Given the description of an element on the screen output the (x, y) to click on. 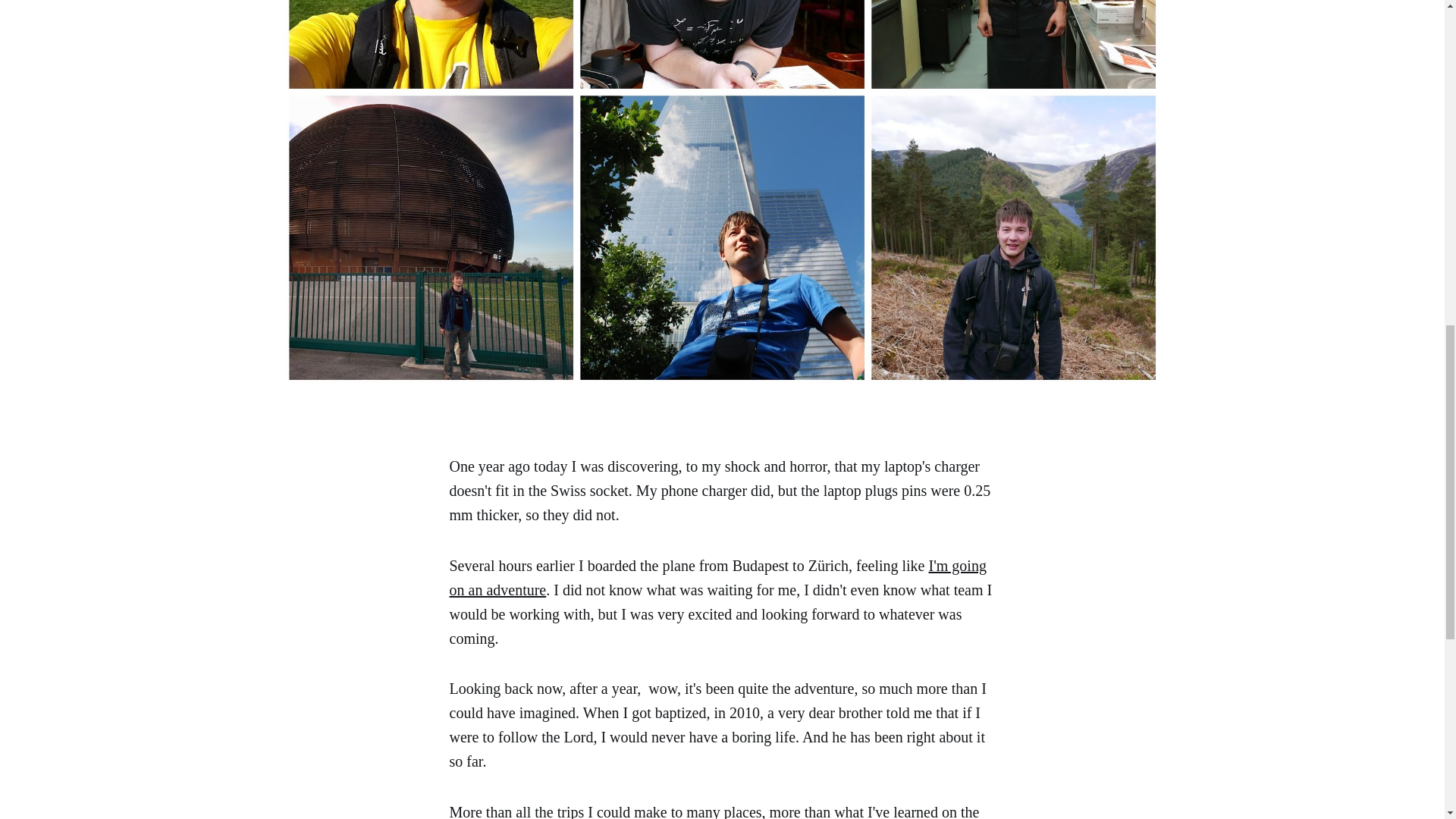
I'm going on an adventure (716, 577)
